Given the description of an element on the screen output the (x, y) to click on. 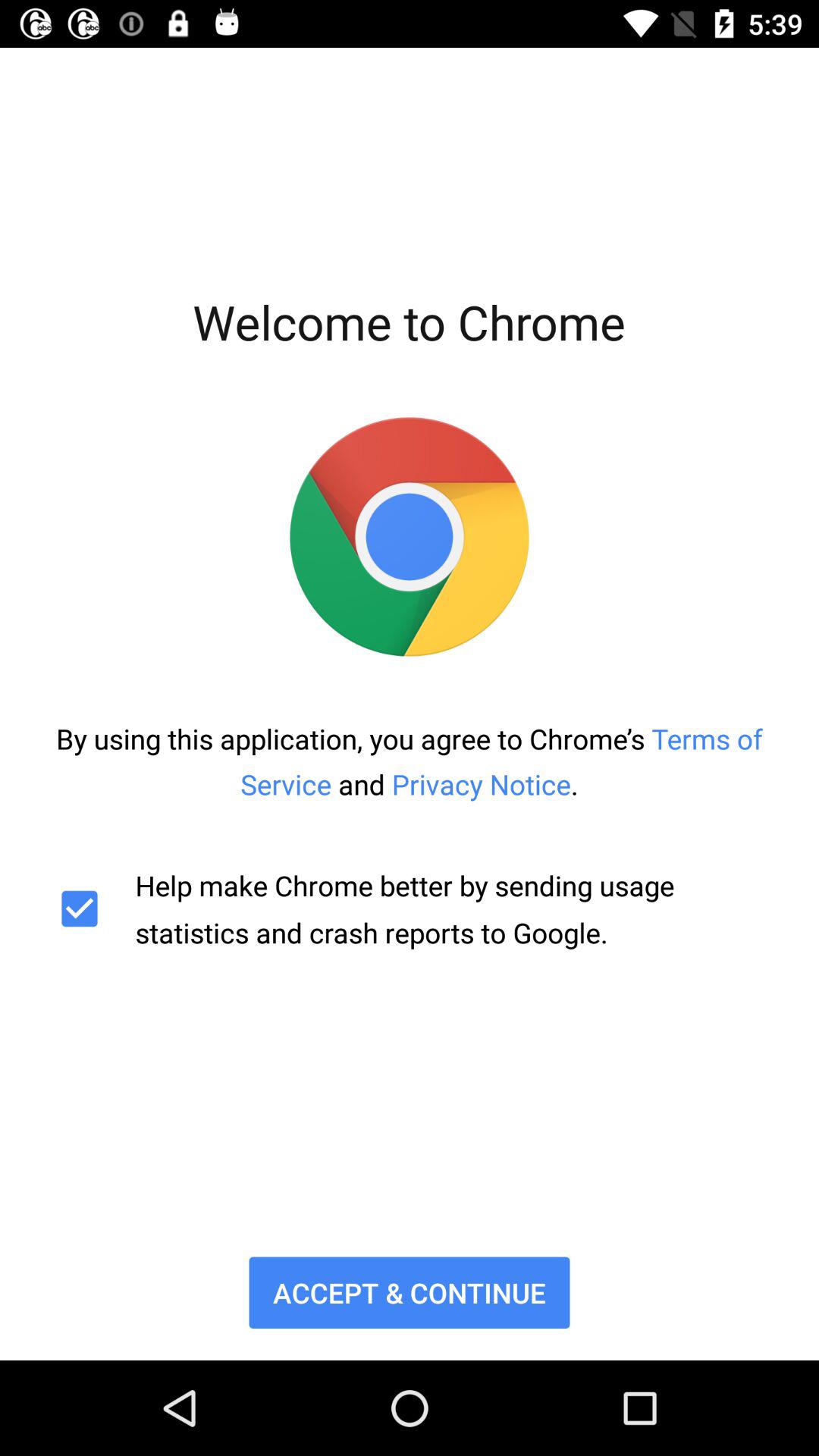
press the help make chrome icon (409, 908)
